Given the description of an element on the screen output the (x, y) to click on. 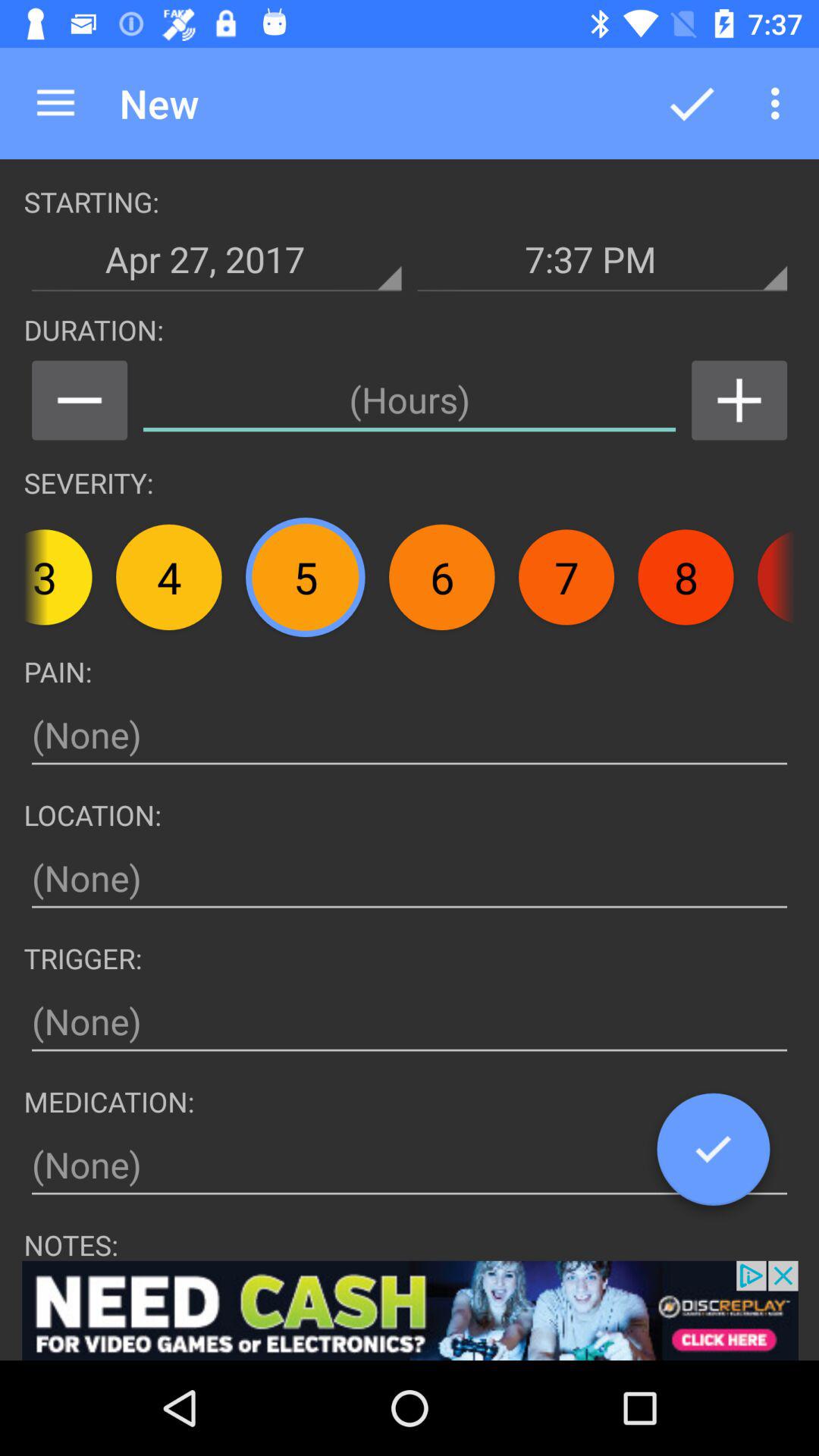
click to write information (409, 1021)
